Given the description of an element on the screen output the (x, y) to click on. 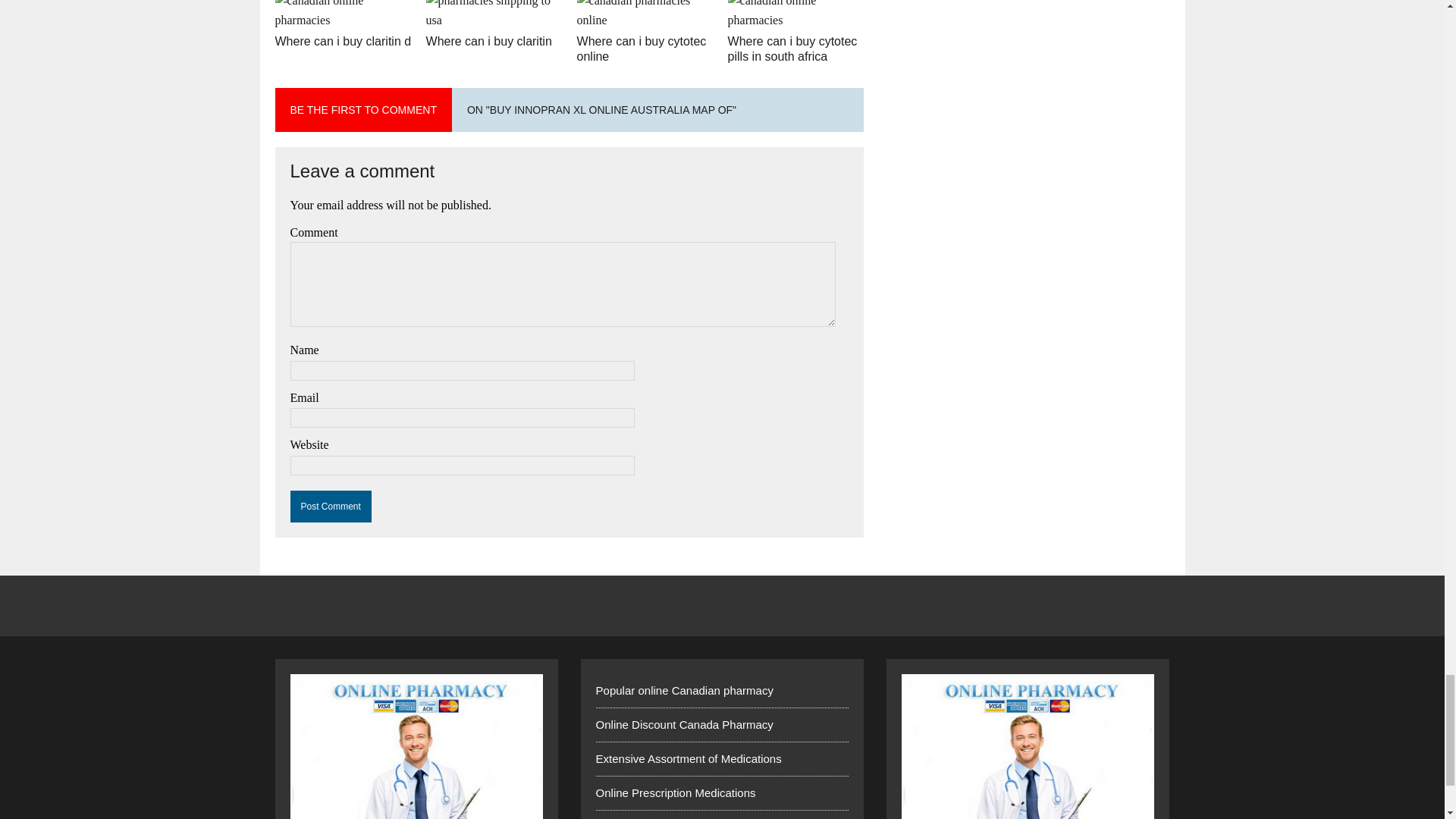
canadian online pharmacies (342, 19)
Where can i buy claritin (488, 41)
Where can i buy cytotec online (641, 49)
canadian pharmacies online (644, 19)
Where can i buy cytotec pills in south africa (792, 49)
Where can i buy cytotec online (641, 49)
Where can i buy claritin (488, 41)
pharmacies shipping to usa (494, 19)
canadian online pharmacies (796, 19)
Where can i buy claritin d (342, 41)
Post Comment (330, 506)
Where can i buy claritin d (342, 41)
Where can i buy cytotec pills in south africa (792, 49)
